Given the description of an element on the screen output the (x, y) to click on. 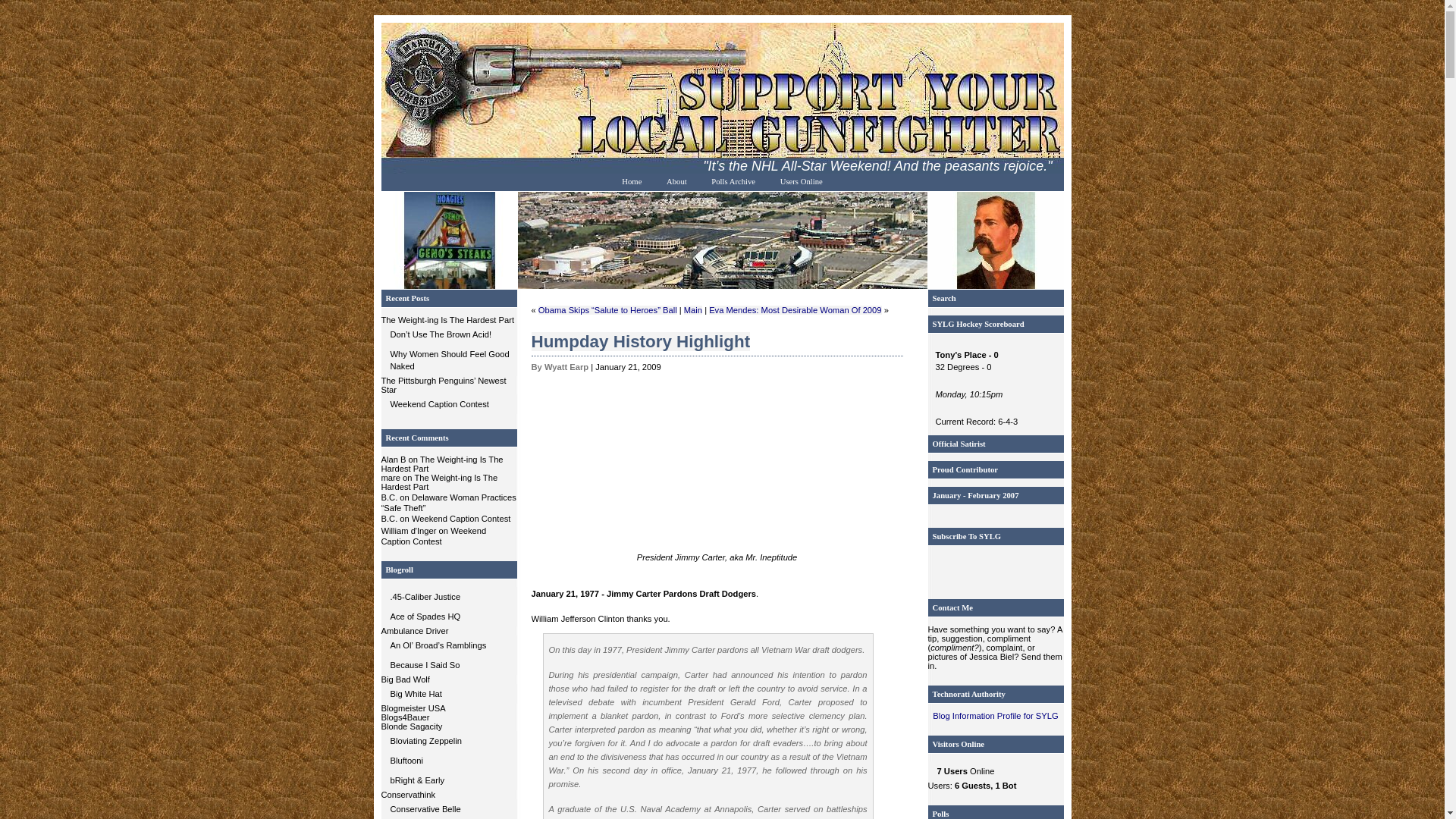
Oh, The Humanity! (448, 741)
Montco Writer (448, 760)
B.C. (388, 518)
Weekend Caption Contest (433, 536)
Big White Hat (448, 693)
Master Of All Morons (448, 616)
Users Online (801, 181)
Justice Is Served! (448, 596)
Southern Hospitality (448, 809)
Conservative Belle (448, 809)
B.C. (388, 497)
Ace of Spades HQ (448, 616)
Texas Good Guy (448, 693)
Bluftooni (448, 760)
Weekend Caption Contest (461, 518)
